Given the description of an element on the screen output the (x, y) to click on. 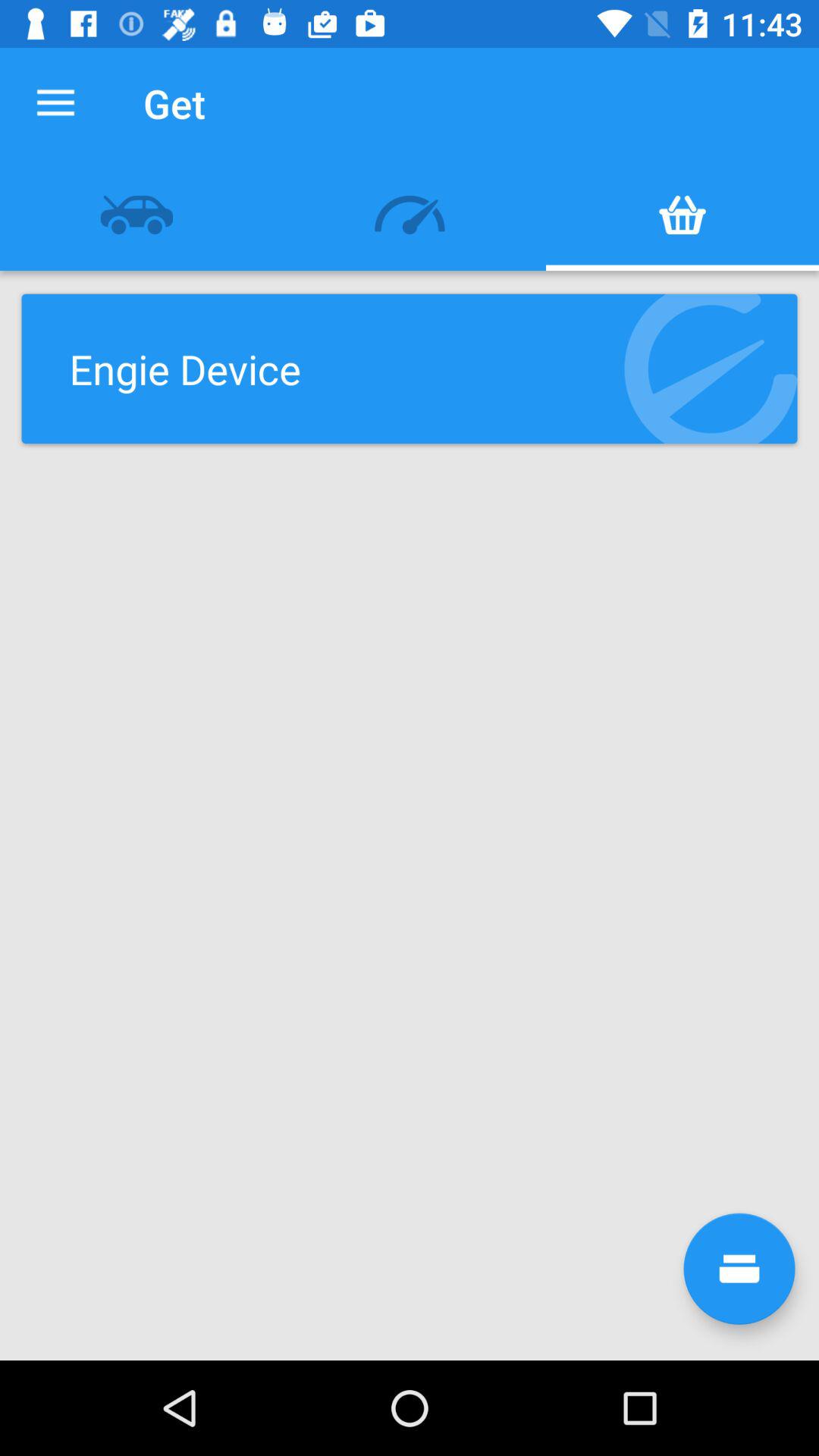
select item above the engie device icon (136, 214)
